Given the description of an element on the screen output the (x, y) to click on. 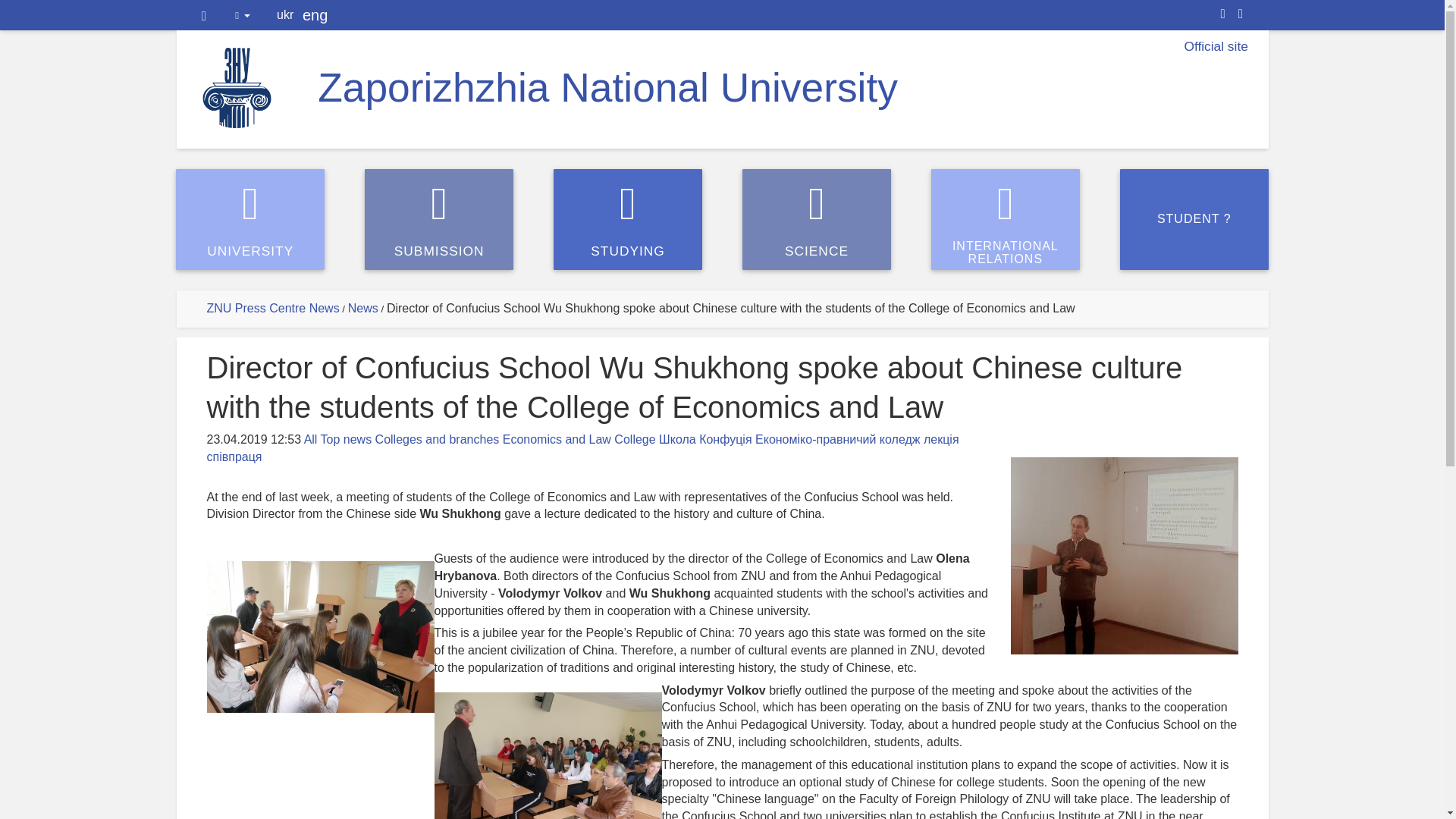
SCIENCE (816, 219)
Colleges and branches (437, 439)
Site map (1222, 13)
Top news (346, 439)
ukr (285, 14)
ZNU Press Centre News (272, 308)
News (1005, 219)
Print (362, 308)
STUDYING (1241, 13)
Skip to page content (627, 219)
Economics and Law College (204, 15)
STUDENT ? (579, 439)
SUBMISSION (1193, 219)
UNIVERSITY (439, 219)
